Given the description of an element on the screen output the (x, y) to click on. 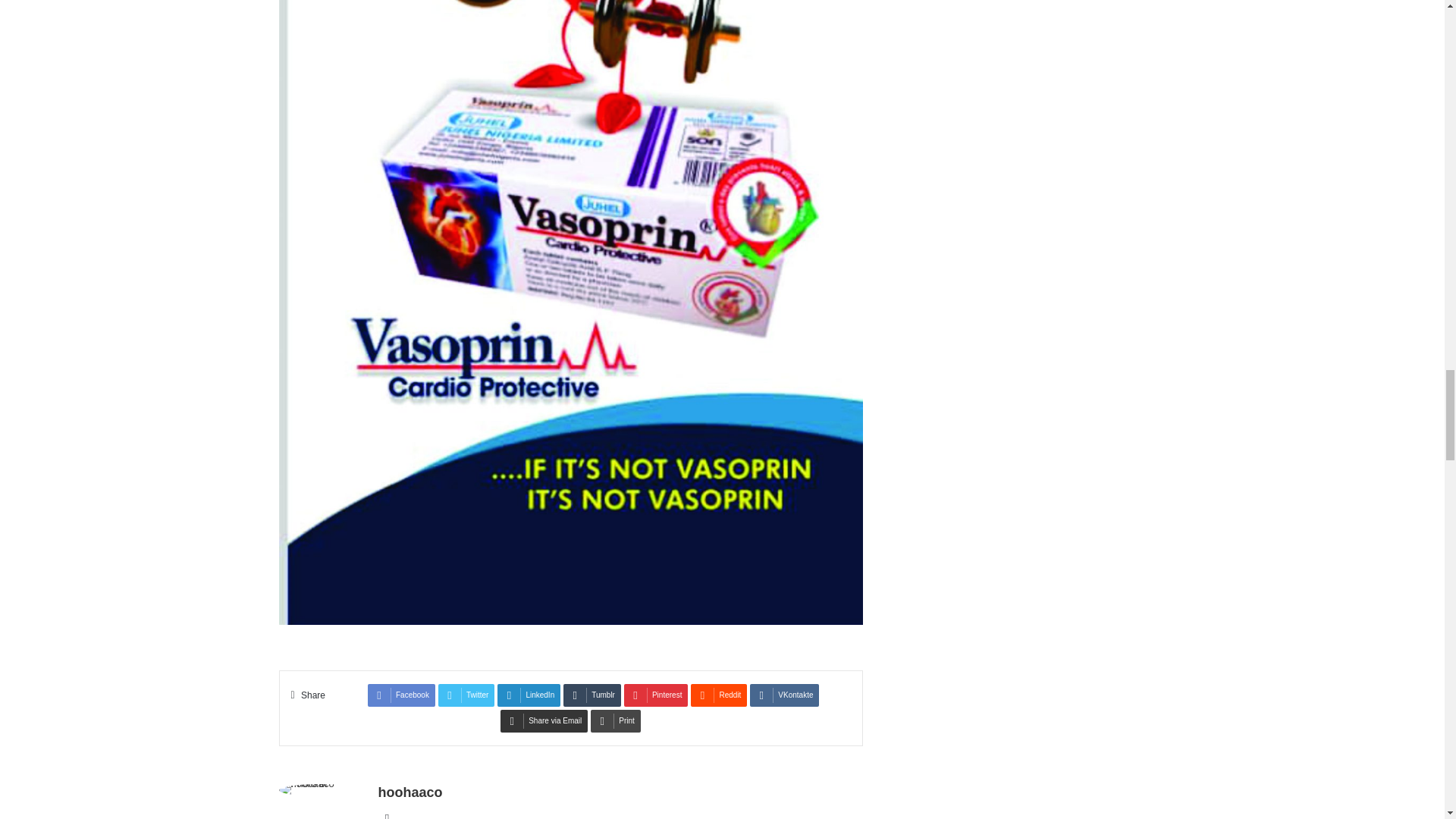
Share via Email (544, 721)
Facebook (401, 694)
VKontakte (783, 694)
Pinterest (655, 694)
Twitter (466, 694)
LinkedIn (528, 694)
Reddit (718, 694)
Tumblr (592, 694)
